Given the description of an element on the screen output the (x, y) to click on. 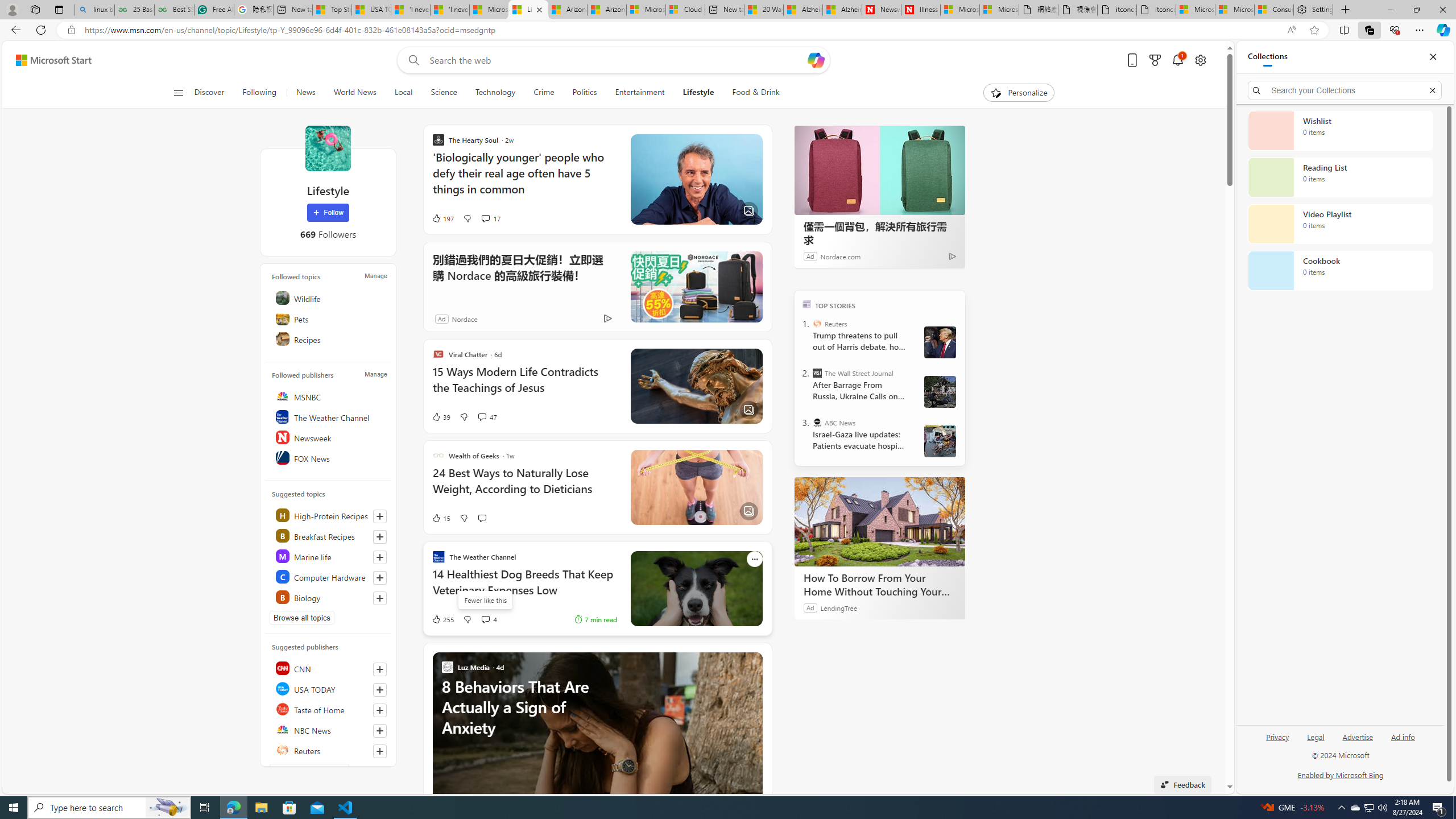
39 Like (440, 416)
CNN (328, 668)
Image Credit: Crystal Cox/Business Insider (696, 179)
Follow (328, 212)
FOX News (328, 457)
Food & Drink (756, 92)
Search your Collections (1345, 90)
14 Healthiest Dog Breeds That Keep Veterinary Expenses Low (524, 587)
